Given the description of an element on the screen output the (x, y) to click on. 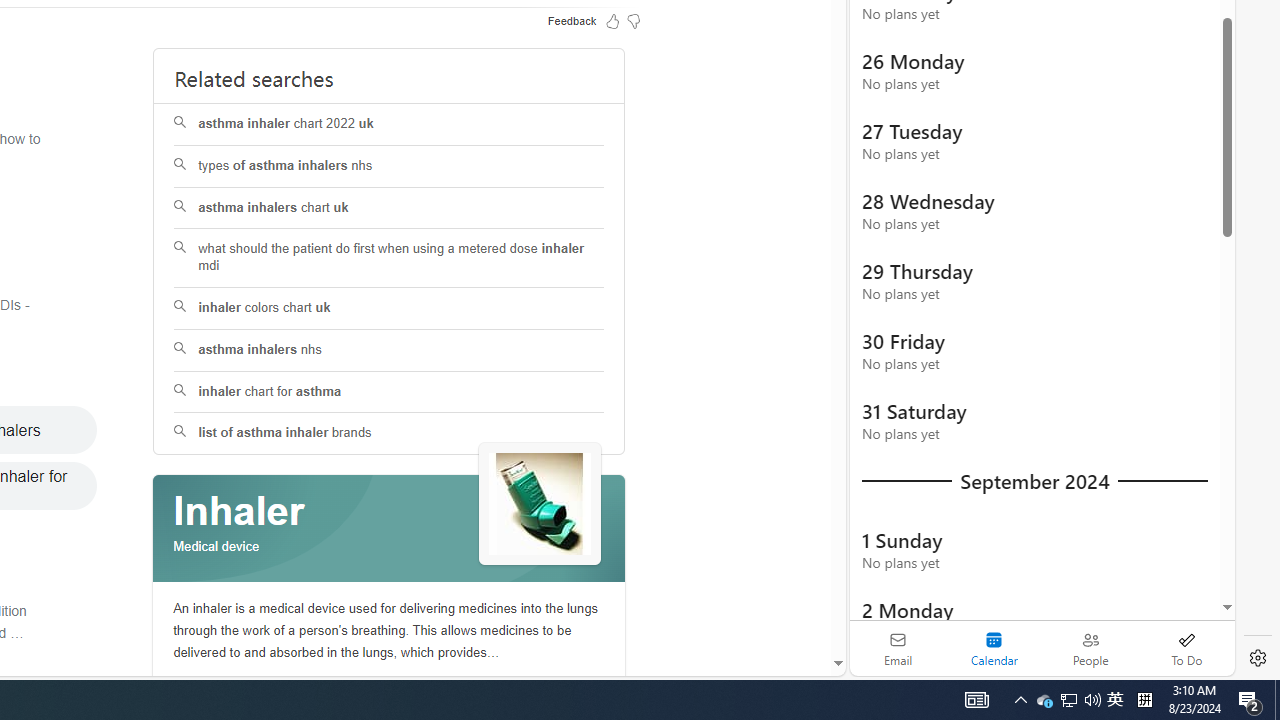
People (1090, 648)
asthma inhalers nhs (388, 349)
Feedback Dislike (633, 20)
inhaler chart for asthma (389, 391)
To Do (1186, 648)
Selected calendar module. Date today is 22 (994, 648)
asthma inhaler chart 2022 uk (388, 123)
Search more (792, 604)
AutomationID: mfa_root (762, 603)
inhaler chart for asthma (388, 391)
See more images of Inhaler (539, 503)
